Given the description of an element on the screen output the (x, y) to click on. 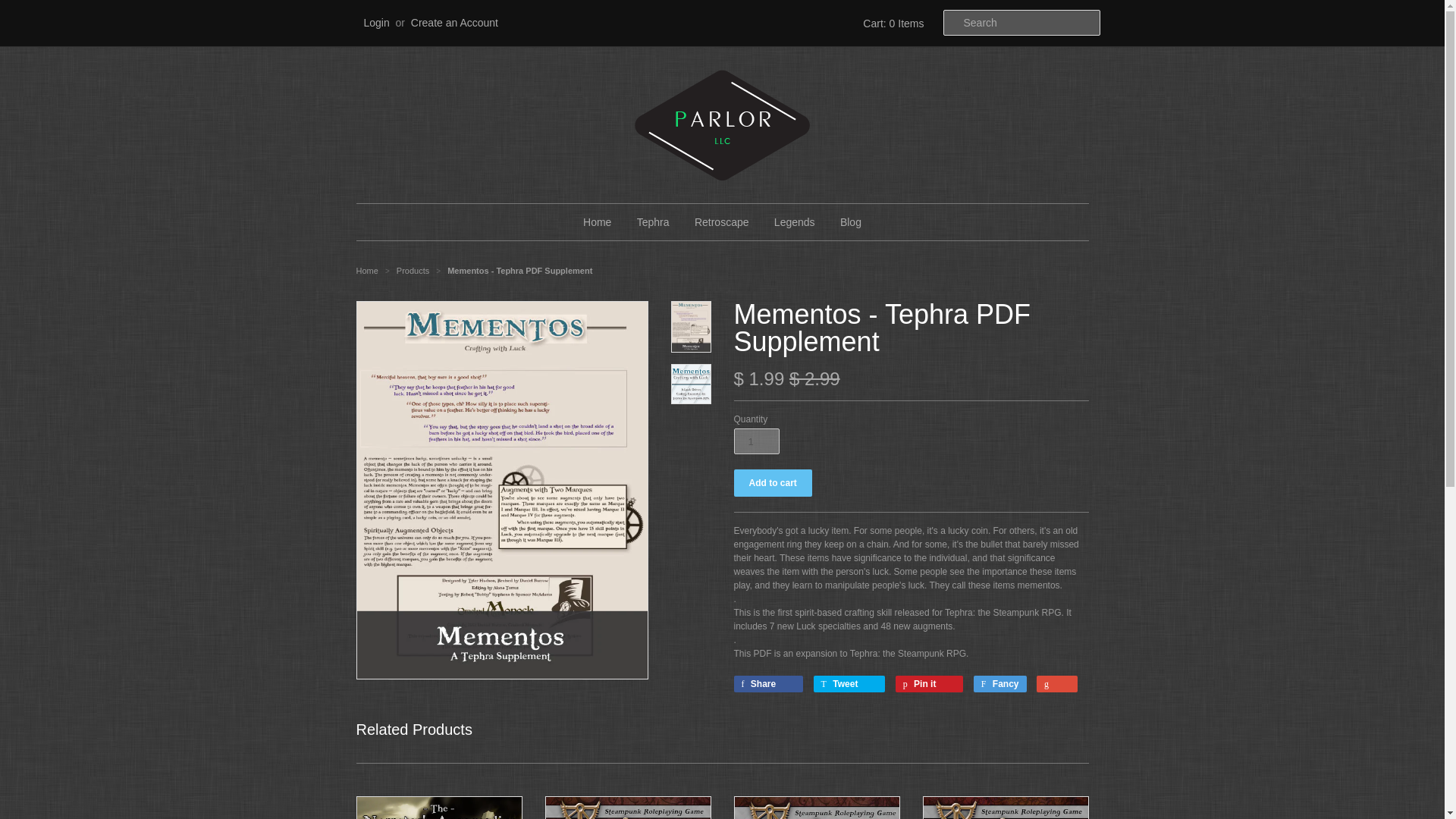
Tephra (653, 221)
Create an Account (453, 22)
Home (597, 221)
Retroscape (721, 221)
Login (377, 22)
Parlor (367, 270)
Add to cart (772, 482)
Legends (794, 221)
Blog (850, 221)
1 (755, 441)
